Given the description of an element on the screen output the (x, y) to click on. 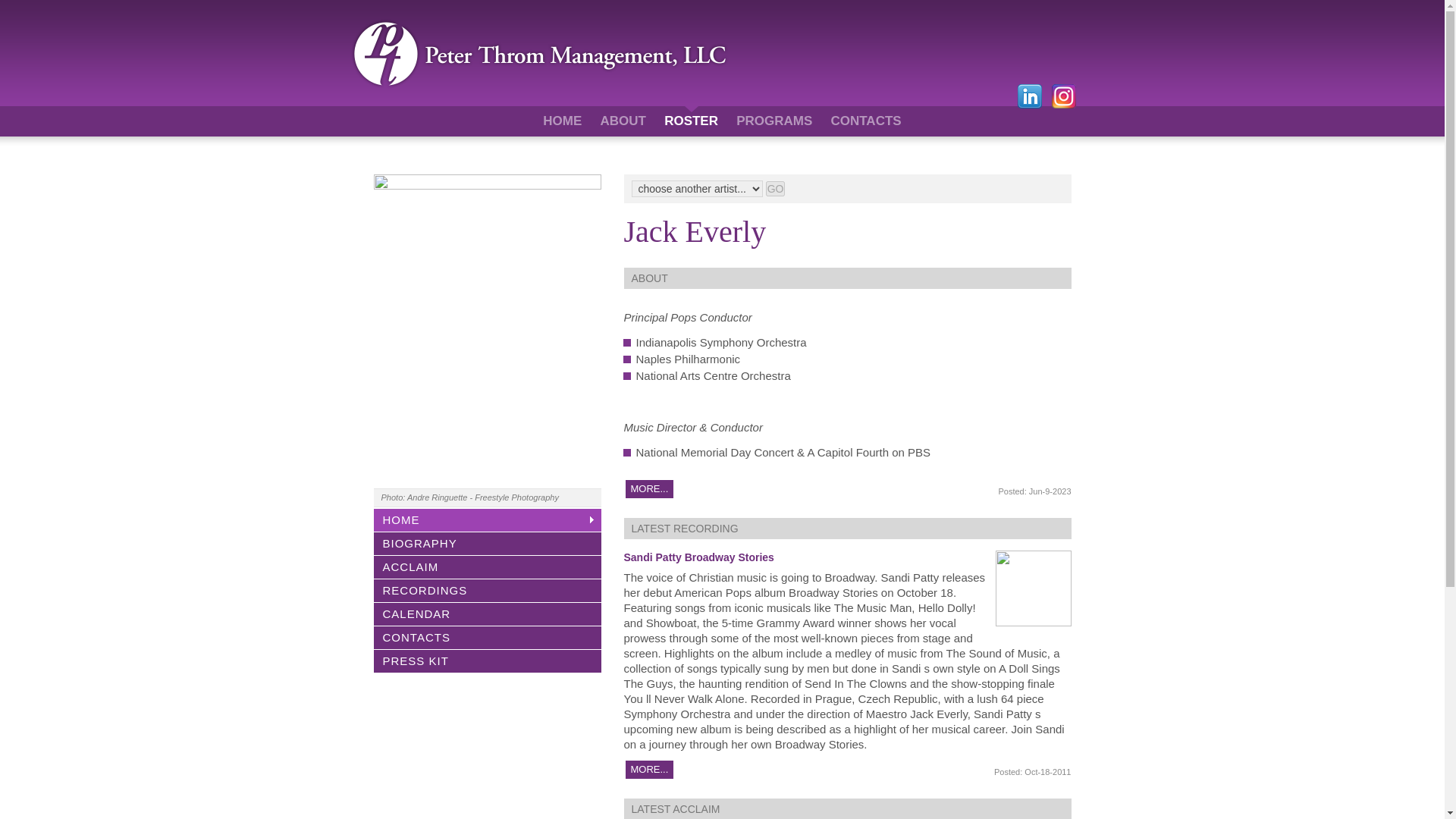
PRESS KIT (485, 660)
CALENDAR (485, 612)
HOME (485, 518)
PROGRAMS (774, 120)
RECORDINGS (485, 590)
ACCLAIM (485, 566)
LinkedIn (1029, 94)
CONTACTS (865, 120)
GO (775, 188)
Jack Everly (694, 231)
